Given the description of an element on the screen output the (x, y) to click on. 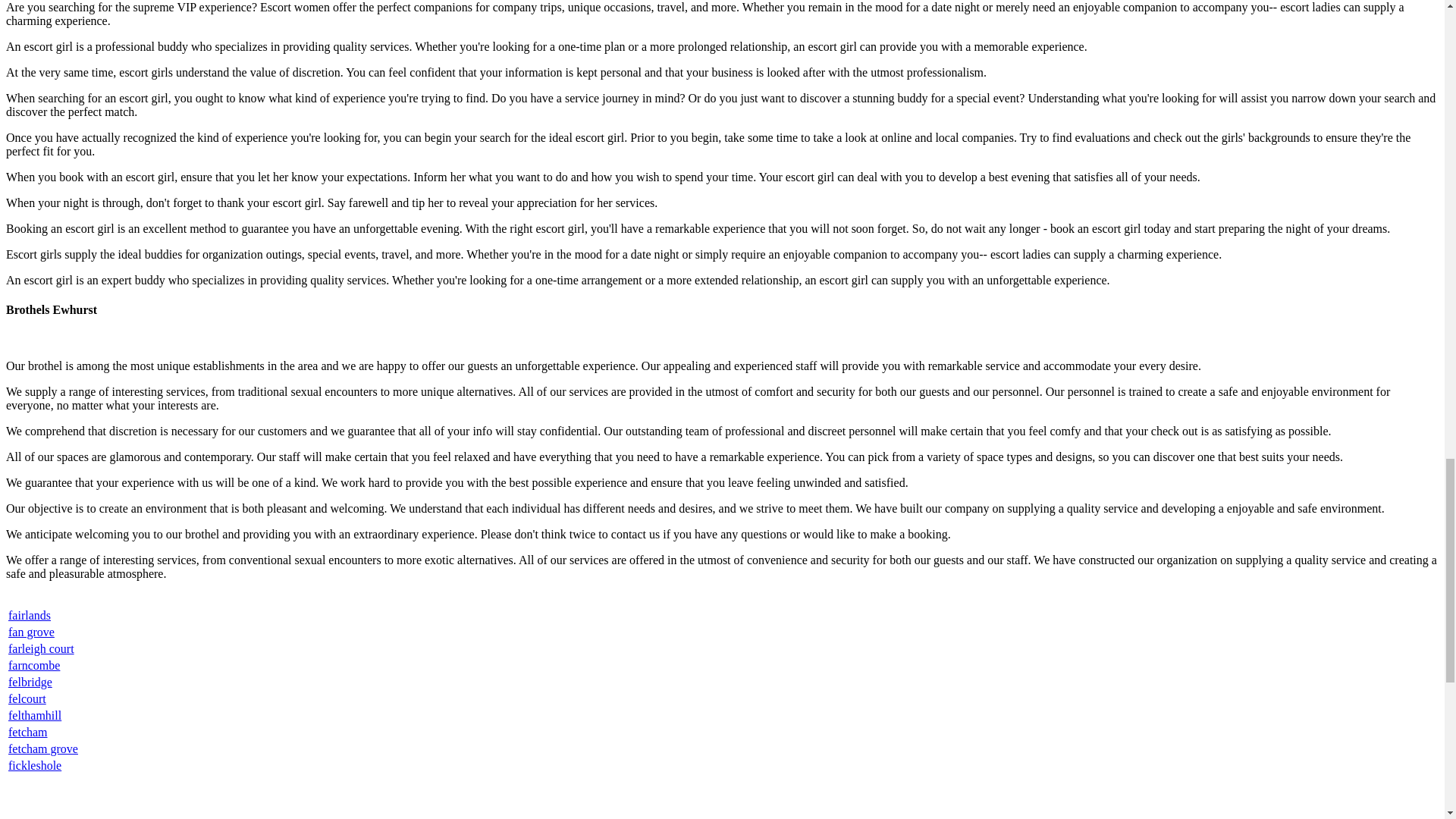
fetcham (28, 731)
fan grove (31, 631)
farncombe (33, 665)
fetcham grove (43, 748)
fickleshole (34, 765)
felbridge (30, 681)
felcourt (27, 698)
fairlands (29, 615)
felthamhill (34, 715)
farleigh court (41, 648)
